Given the description of an element on the screen output the (x, y) to click on. 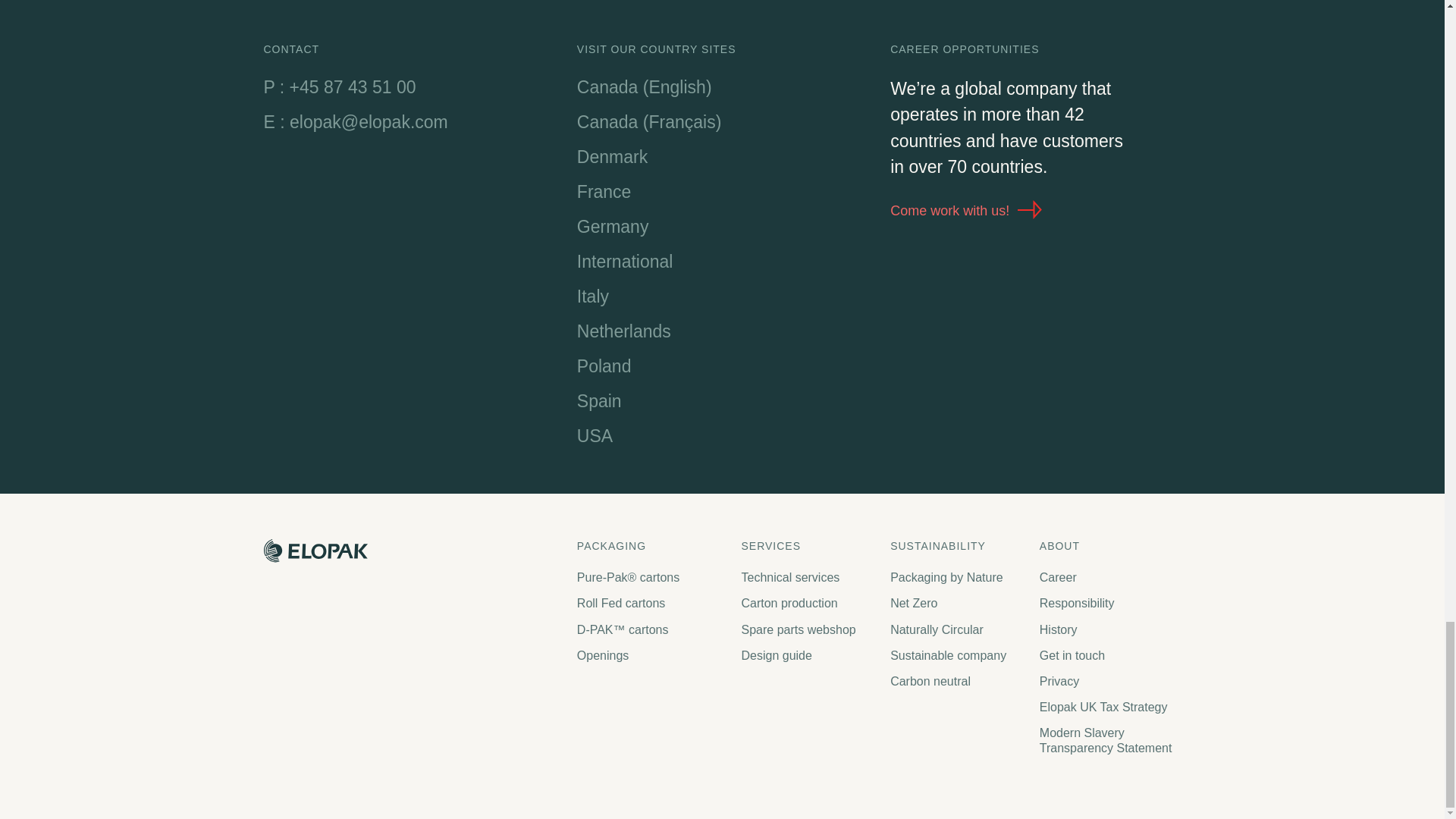
Packaging (651, 545)
Services (808, 545)
